Given the description of an element on the screen output the (x, y) to click on. 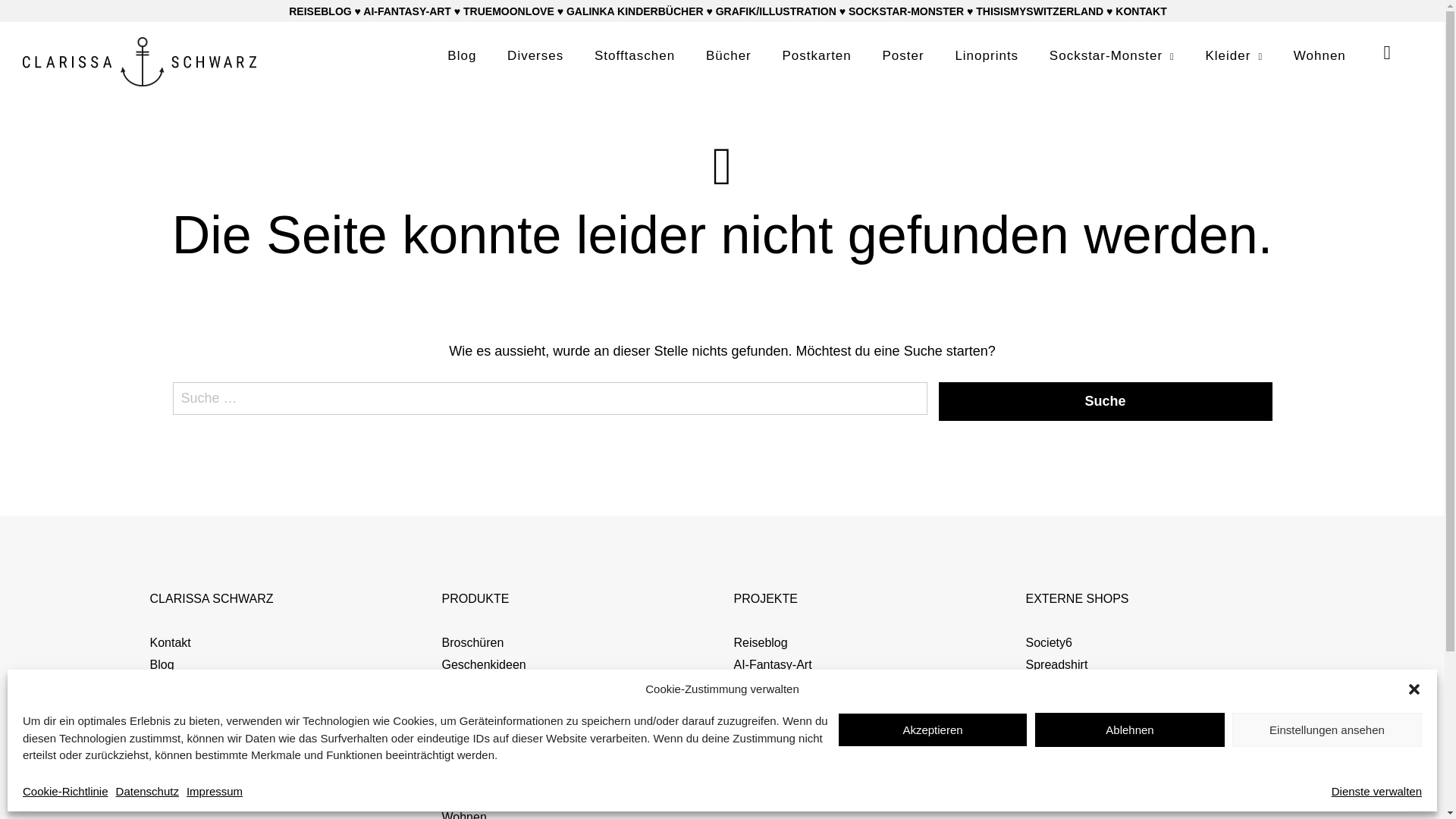
Sockstar-Monster Element type: text (1111, 55)
Blog Element type: text (461, 55)
Ablehnen Element type: text (1129, 729)
Datenschutz Element type: text (183, 729)
TRUEMOONLOVE Element type: text (508, 11)
AGB Element type: text (162, 685)
Geschenkideen Element type: text (483, 664)
Linoprints Element type: text (986, 55)
Poster Element type: text (458, 729)
Stofftaschen Element type: text (634, 55)
T-Shirts Element type: text (462, 794)
AI-Fantasy-Art Element type: text (773, 664)
KONTAKT Element type: text (1140, 11)
Fotografie Element type: text (761, 685)
Kleider Element type: text (460, 685)
Stofftaschen Element type: text (474, 772)
Diverses Element type: text (535, 55)
Kontakt Element type: text (170, 642)
Reiseblog Element type: text (760, 642)
Wohnen Element type: text (1319, 55)
Spreadshirt Element type: text (1056, 664)
AI-FANTASY-ART Element type: text (407, 11)
Blog Element type: text (162, 664)
THISISMYSWITZERLAND Element type: text (1039, 11)
Redbubble Element type: text (1054, 685)
Kleider Element type: text (1233, 55)
Postkarten Element type: text (816, 55)
Supportyourlocalartist Element type: text (1083, 707)
Einstellungen ansehen Element type: text (1326, 729)
Dienste verwalten Element type: text (1376, 791)
Impressum Element type: text (180, 707)
Poster Element type: text (903, 55)
REISEBLOG Element type: text (319, 11)
Akzeptieren Element type: text (932, 729)
SOCKSTAR-MONSTER Element type: text (905, 11)
Sockstar-Monster Element type: text (781, 751)
True Moon Love Element type: text (778, 707)
Society6 Element type: text (1048, 642)
This is my Switzerland Element type: text (794, 794)
Datenschutz Element type: text (147, 791)
GRAFIK/ILLUSTRATION Element type: text (775, 11)
Grafik/Illustration Element type: text (779, 772)
Impressum Element type: text (214, 791)
Suche Element type: text (1105, 401)
Originale Element type: text (465, 707)
Postkarten Element type: text (469, 751)
Cookie-Richtlinie Element type: text (65, 791)
